Given the description of an element on the screen output the (x, y) to click on. 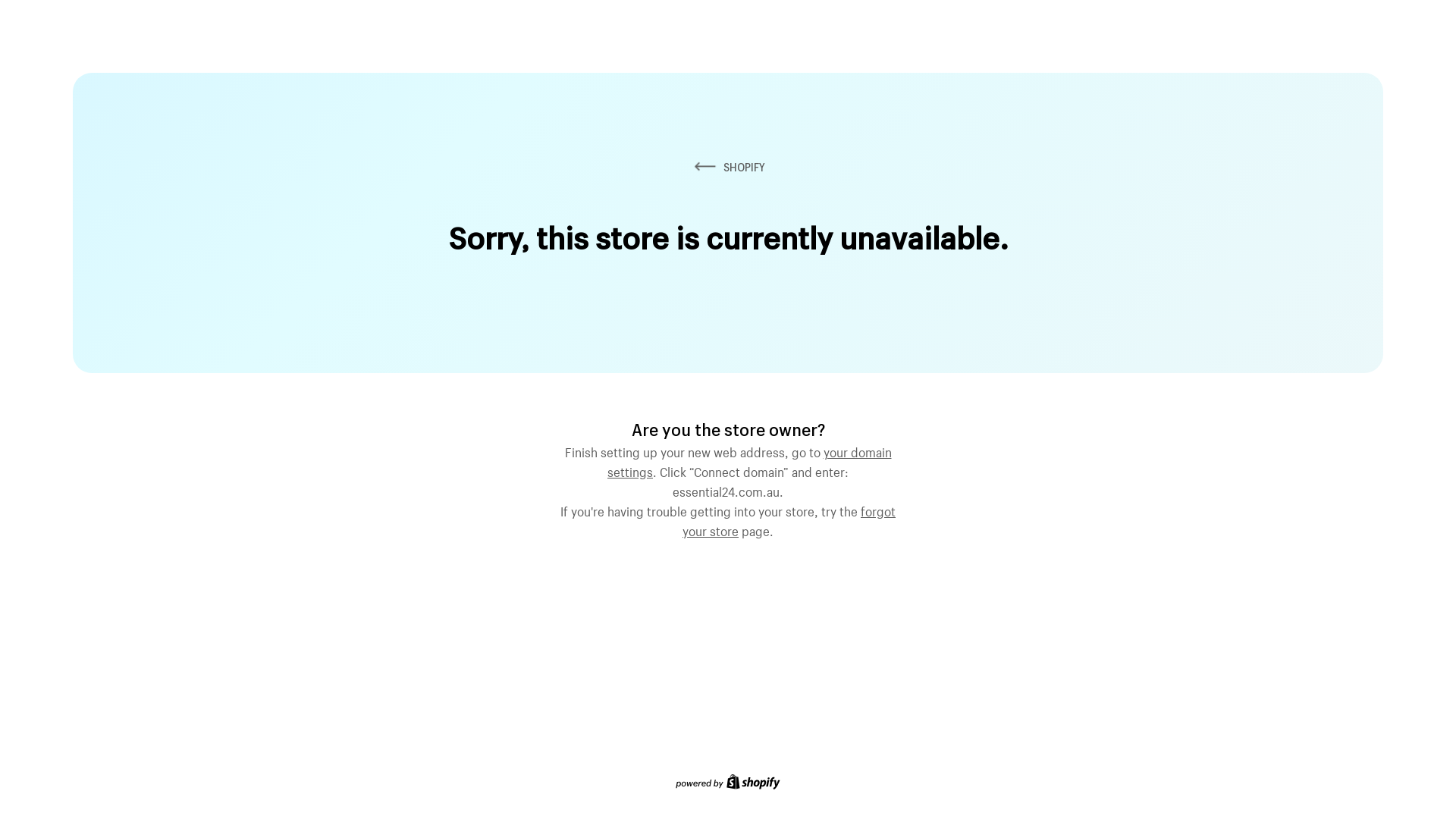
SHOPIFY Element type: text (727, 167)
your domain settings Element type: text (749, 460)
forgot your store Element type: text (788, 519)
